Given the description of an element on the screen output the (x, y) to click on. 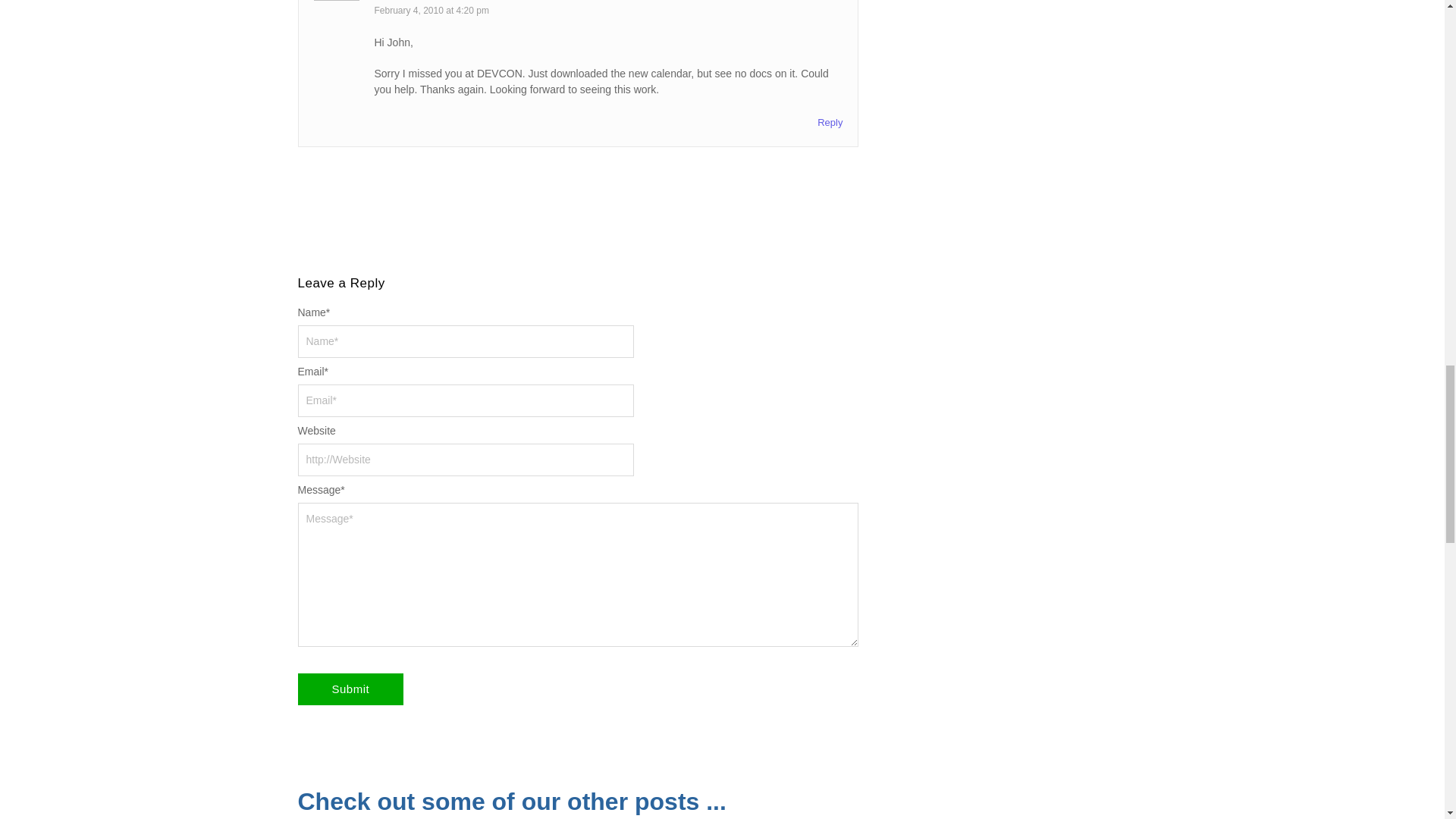
Submit (350, 689)
